Given the description of an element on the screen output the (x, y) to click on. 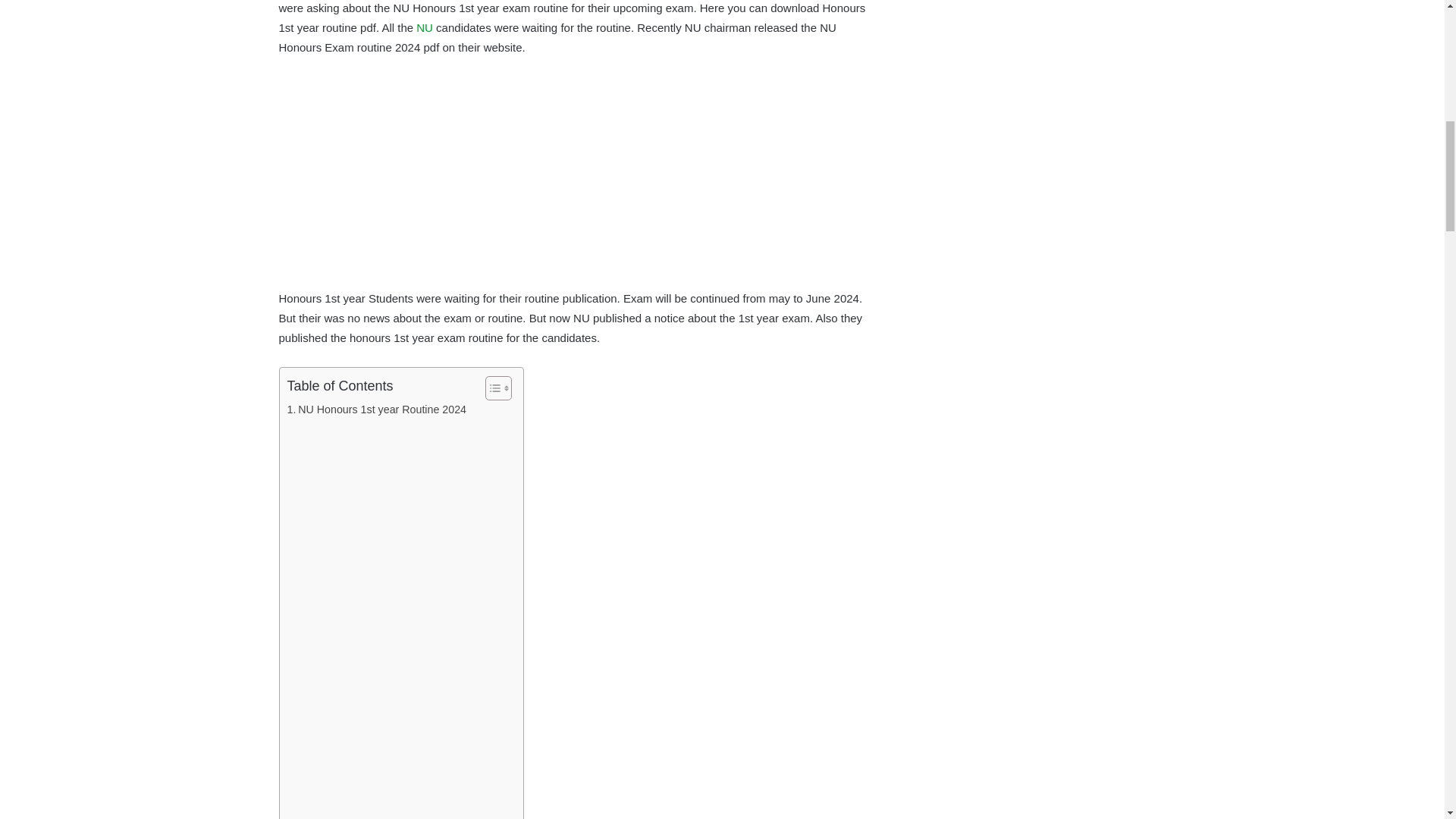
NU Honours 1st year Routine 2024 (375, 409)
NU (424, 27)
NU Honours 1st year Routine 2024 (375, 409)
Advertisement (574, 182)
Back to top button (1413, 60)
